Given the description of an element on the screen output the (x, y) to click on. 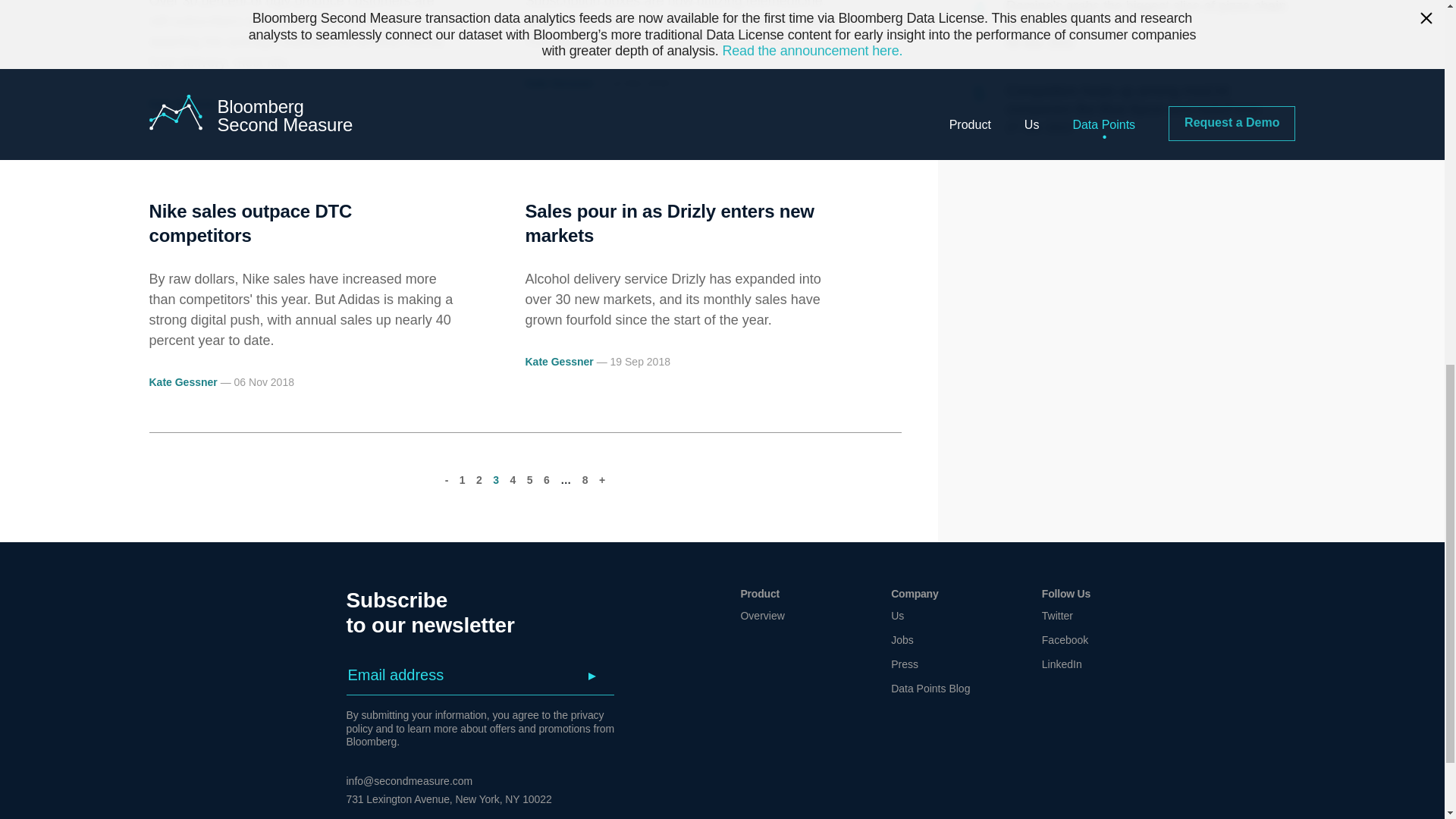
Kate Gessner (182, 103)
4 (513, 480)
Sales pour in as Drizly enters new markets (668, 222)
8 (585, 480)
- (446, 480)
5 (529, 480)
6 (546, 480)
1 (462, 480)
Kate Gessner (558, 82)
Nike sales outpace DTC competitors (250, 222)
2 (478, 480)
Kate Gessner (558, 361)
Kate Gessner (182, 381)
